Given the description of an element on the screen output the (x, y) to click on. 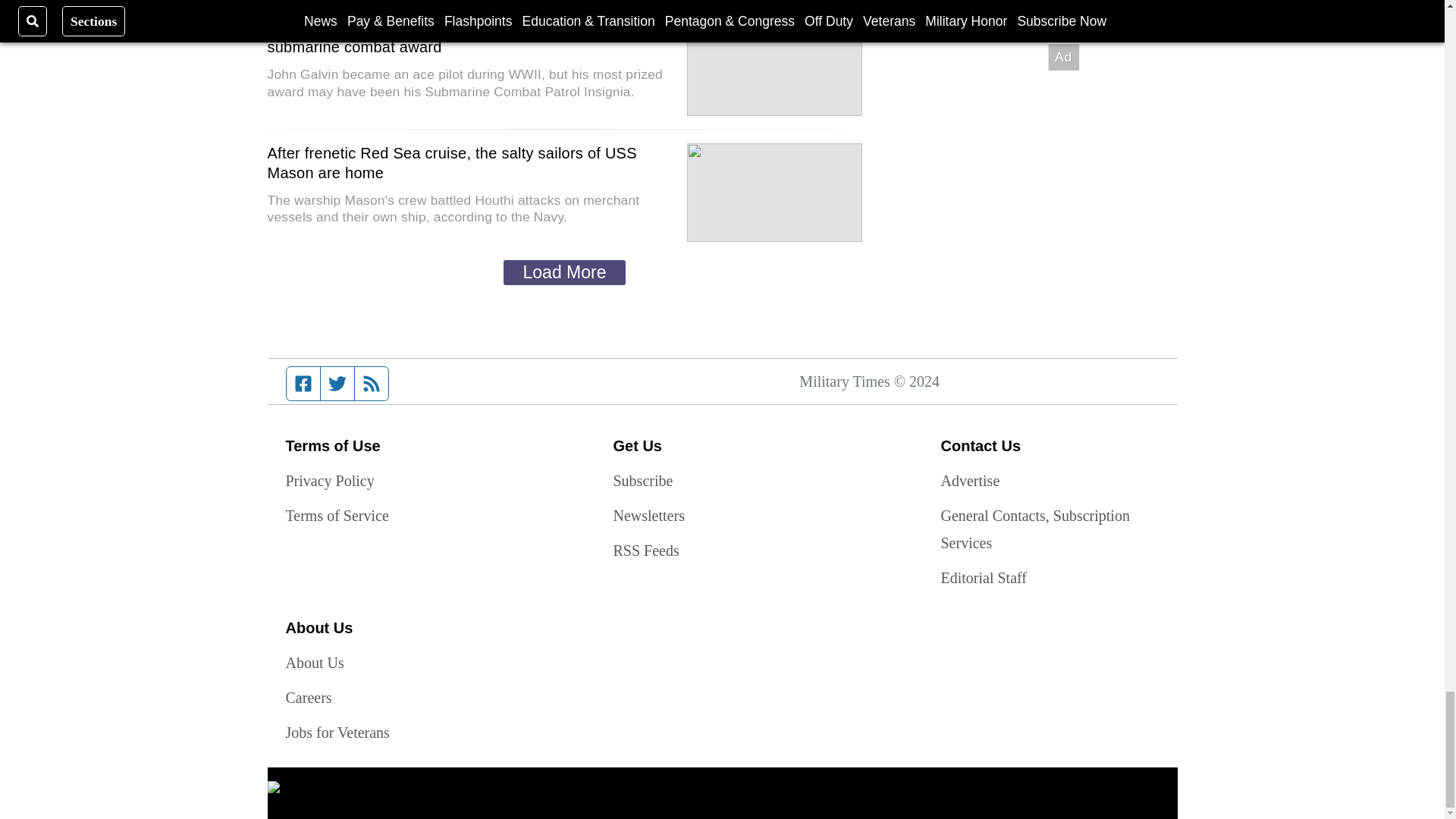
RSS feed (371, 383)
Twitter feed (336, 383)
Facebook page (303, 383)
